Given the description of an element on the screen output the (x, y) to click on. 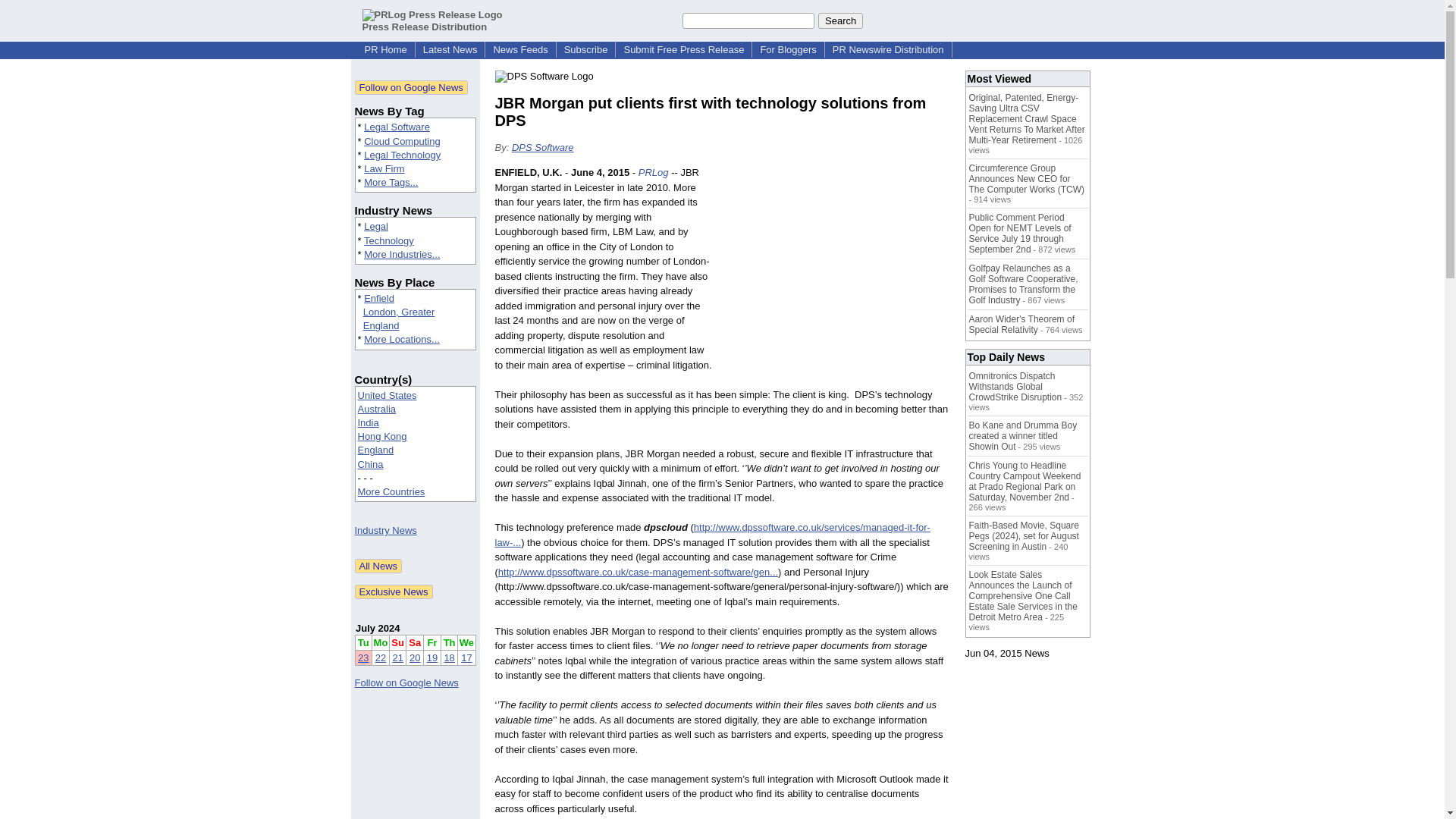
PR Home (385, 49)
More Locations... (401, 338)
London, Greater (398, 311)
18 (449, 657)
20 (414, 657)
22 (380, 657)
England (380, 325)
Exclusive News (393, 591)
All News (379, 565)
Hong Kong (382, 436)
Press Release Distribution (432, 20)
For Bloggers (788, 49)
United States (387, 395)
Subscribe (585, 49)
Search (840, 20)
